Given the description of an element on the screen output the (x, y) to click on. 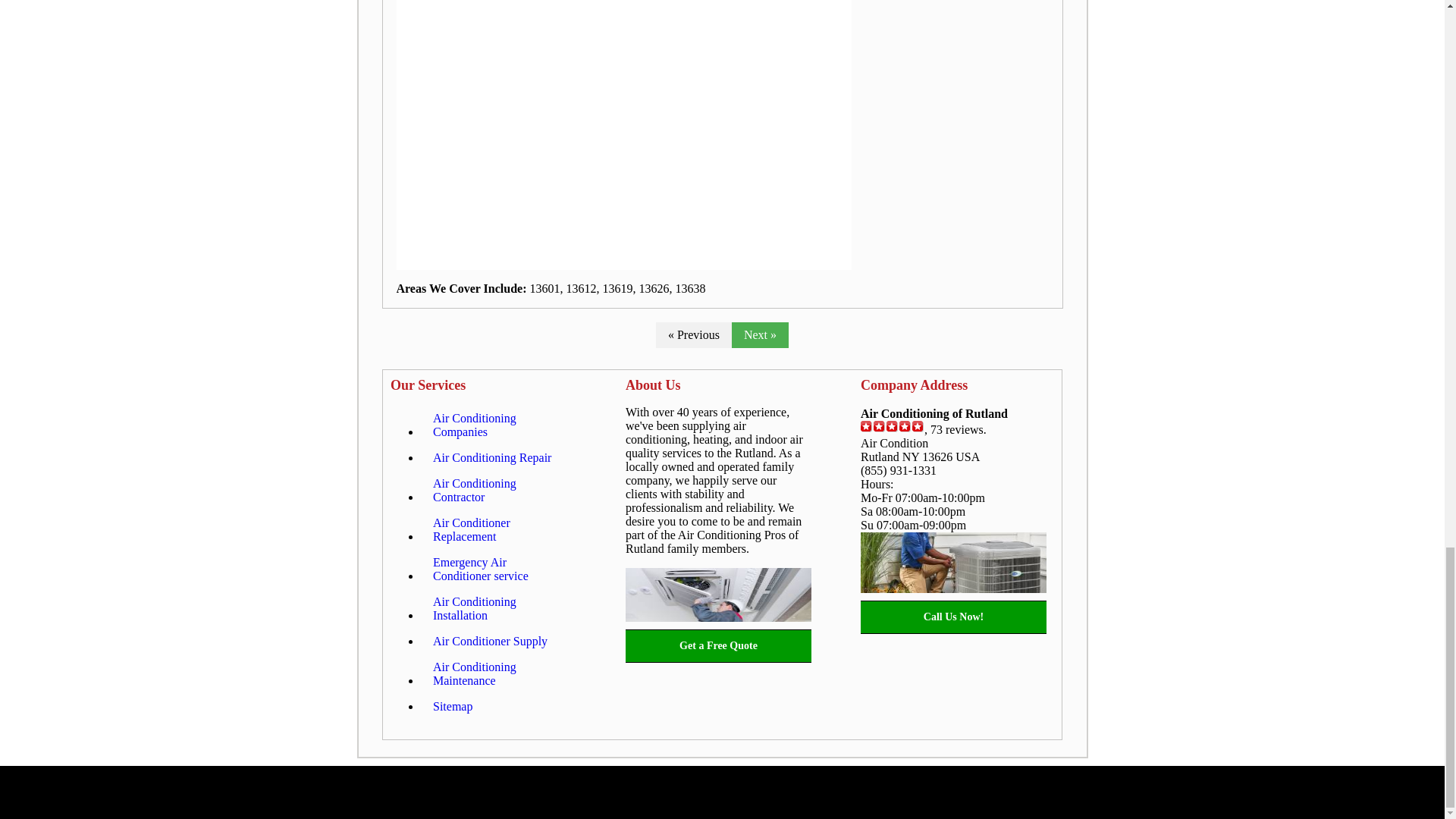
Air Conditioning Maintenance (498, 673)
Air Conditioner Supply (489, 641)
Air Conditioning Repair (491, 457)
Air Conditioner Replacement (498, 529)
Sitemap (452, 706)
Air Conditioning Companies (498, 425)
Emergency Air Conditioner service (498, 568)
Air Conditioning Contractor (498, 490)
Call Us Now! (953, 617)
Air Conditioning Installation (498, 608)
Get a Free Quote (718, 645)
